Given the description of an element on the screen output the (x, y) to click on. 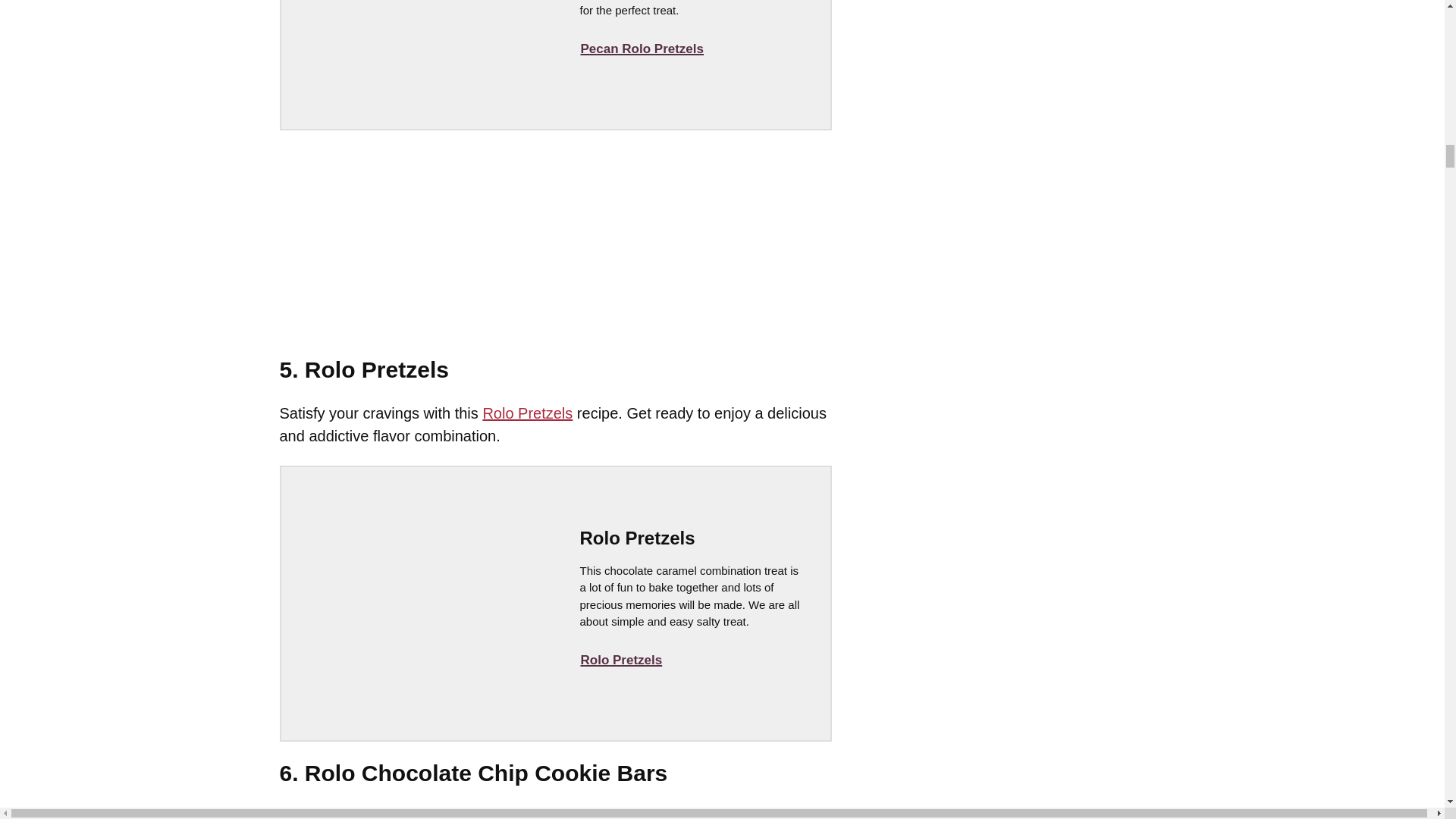
Pecan Rolo Pretzels (641, 49)
Rolo Chocolate Chip Cookie Bars (538, 813)
Rolo Pretzels (526, 412)
Rolo Pretzels (620, 660)
